Given the description of an element on the screen output the (x, y) to click on. 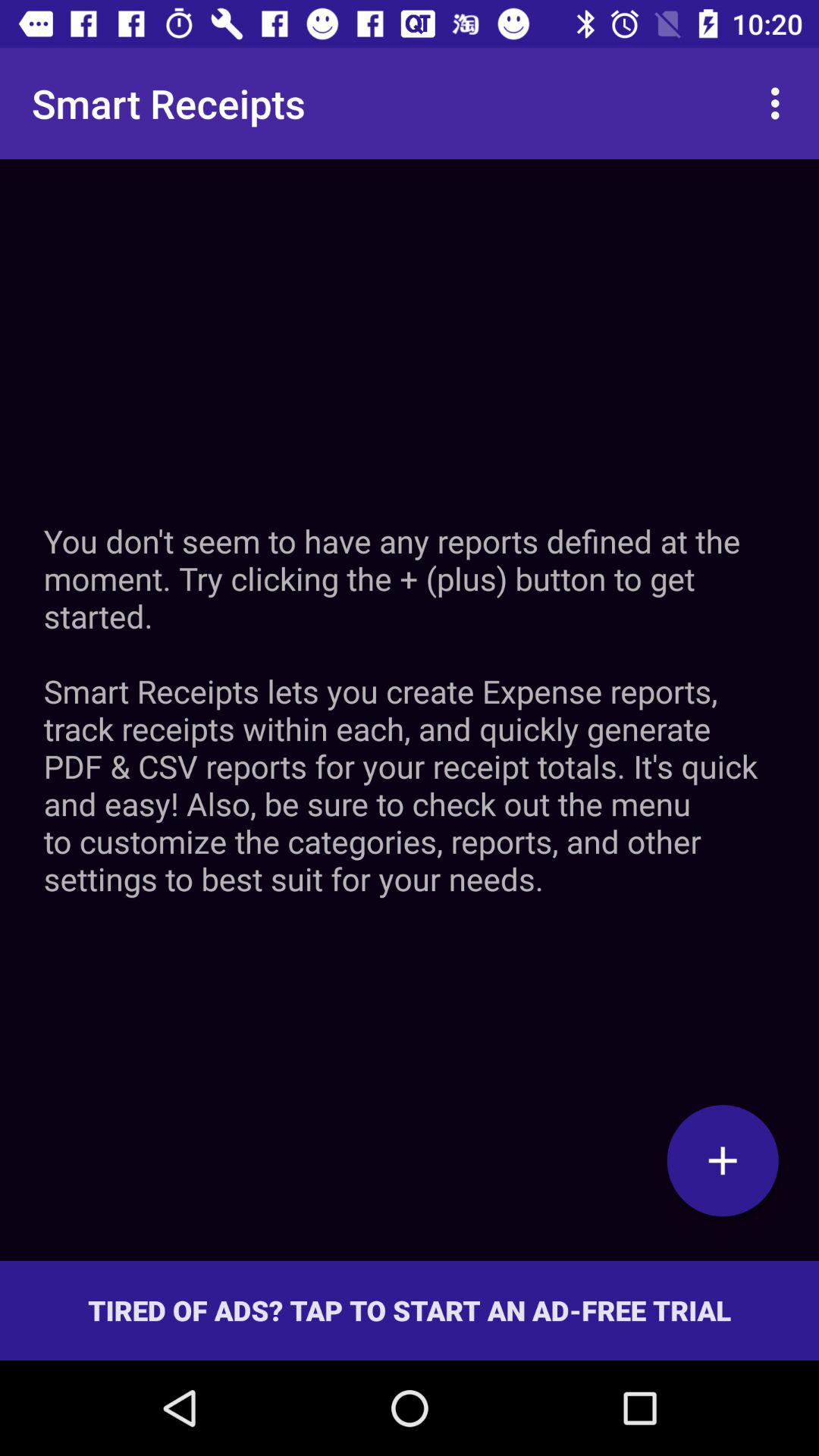
launch the icon above the tired of ads (722, 1160)
